Given the description of an element on the screen output the (x, y) to click on. 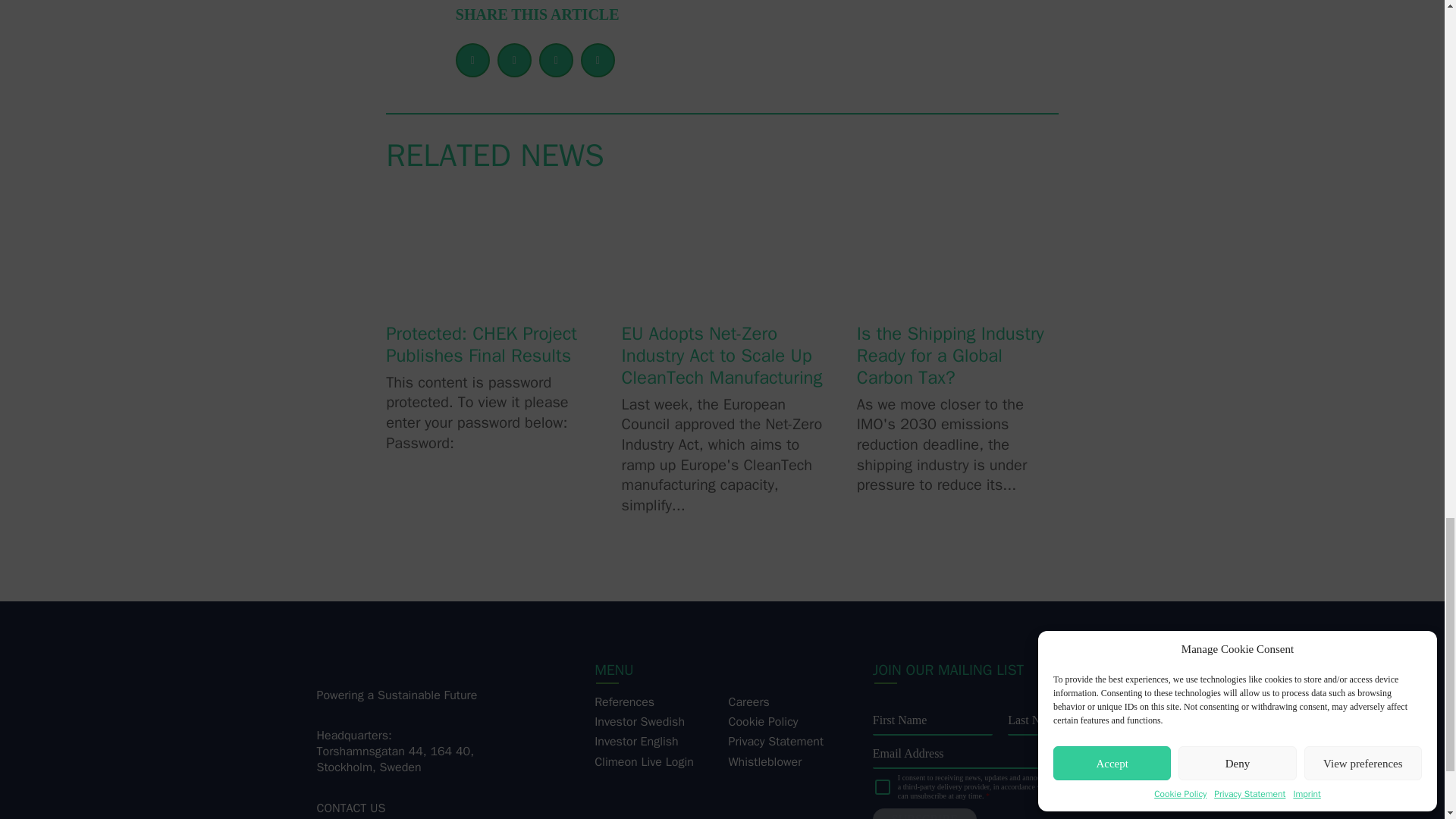
CONTACT US (351, 807)
References (623, 702)
